Given the description of an element on the screen output the (x, y) to click on. 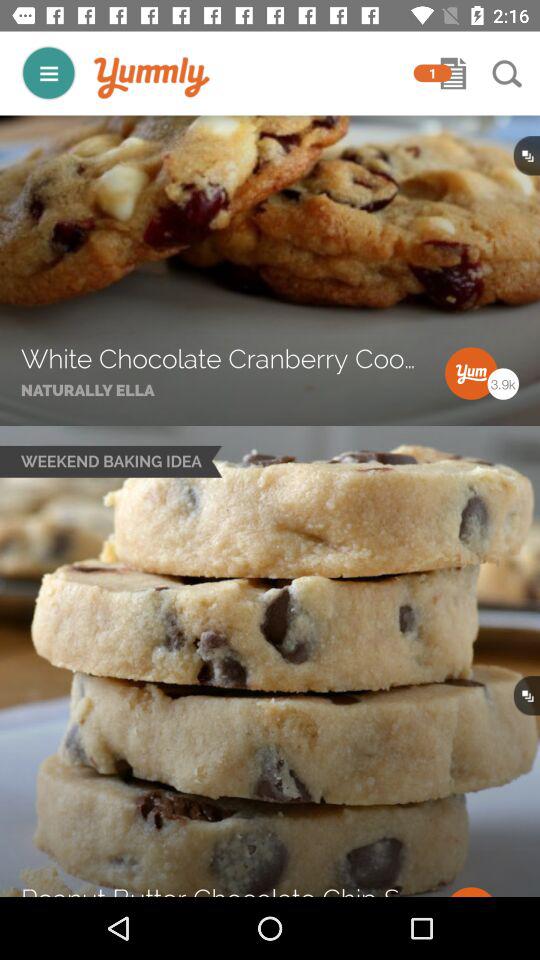
more options (48, 72)
